Given the description of an element on the screen output the (x, y) to click on. 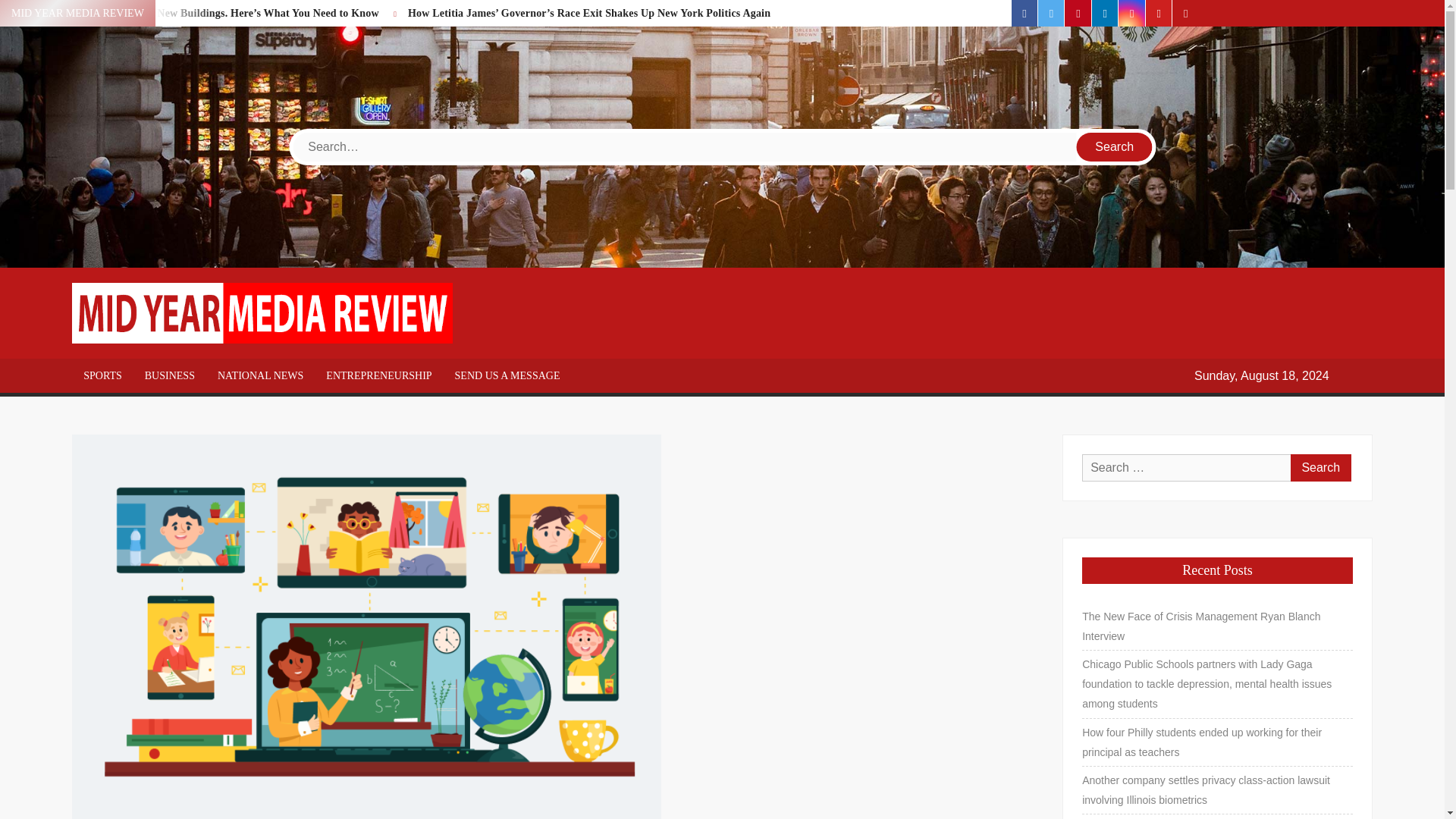
facebook (1024, 13)
Search (1115, 146)
NATIONAL NEWS (260, 374)
Search (1320, 466)
twitter (1051, 13)
linkedin (1105, 13)
ENTREPRENEURSHIP (378, 374)
Search (1115, 146)
Search (1115, 146)
SEND US A MESSAGE (508, 374)
